Given the description of an element on the screen output the (x, y) to click on. 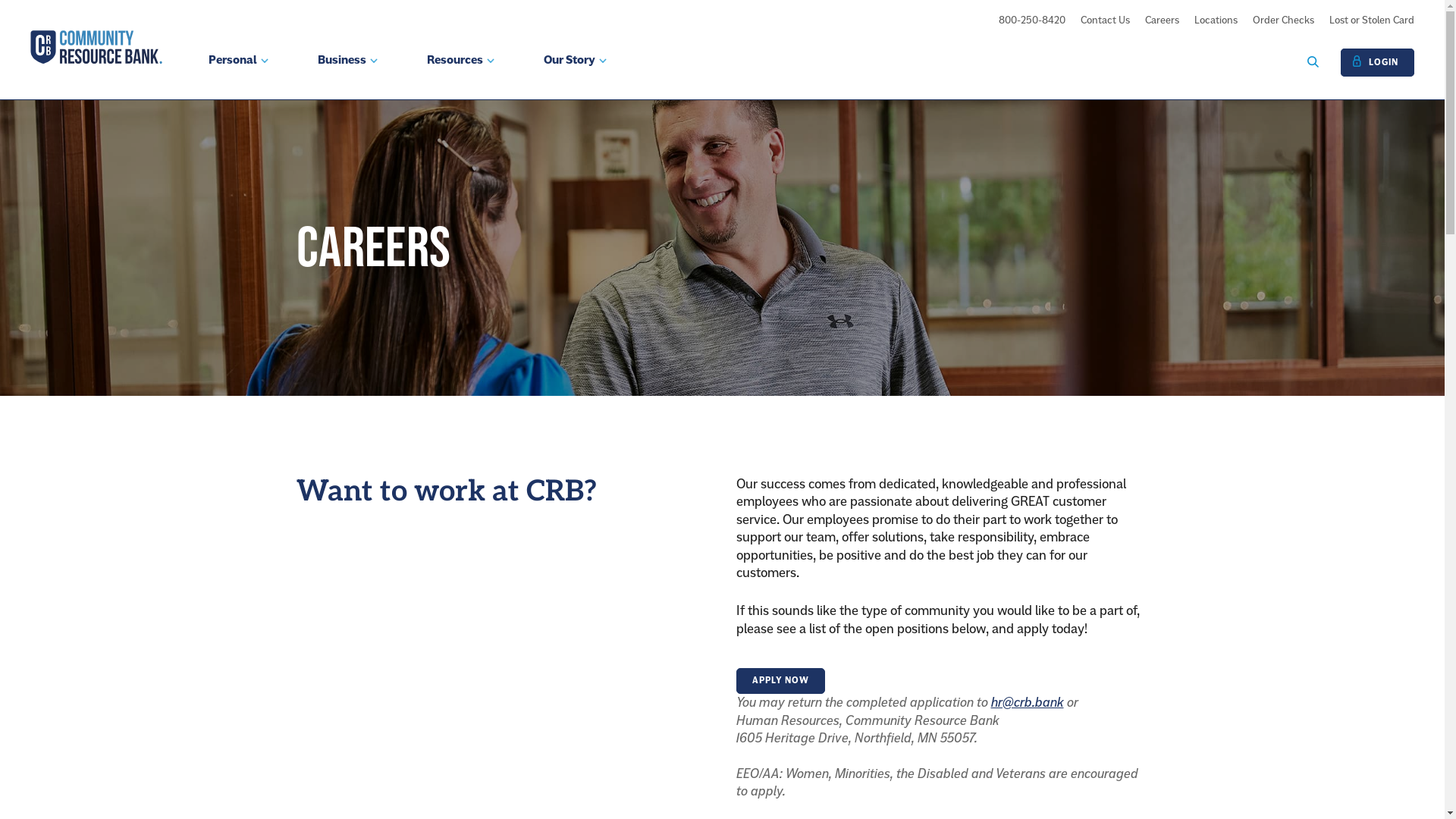
Personal Element type: text (238, 74)
Business Element type: text (347, 74)
hr@crb.bank Element type: text (1026, 701)
Contact Us Element type: text (1104, 20)
Order Checks Element type: text (1283, 20)
APPLY NOW Element type: text (779, 680)
Careers Element type: text (1162, 20)
Lost or Stolen Card Element type: text (1371, 20)
800-250-8420 Element type: text (1031, 20)
Locations Element type: text (1215, 20)
LOGIN Element type: text (1377, 62)
Our Story Element type: text (574, 74)
Resources Element type: text (460, 74)
